Given the description of an element on the screen output the (x, y) to click on. 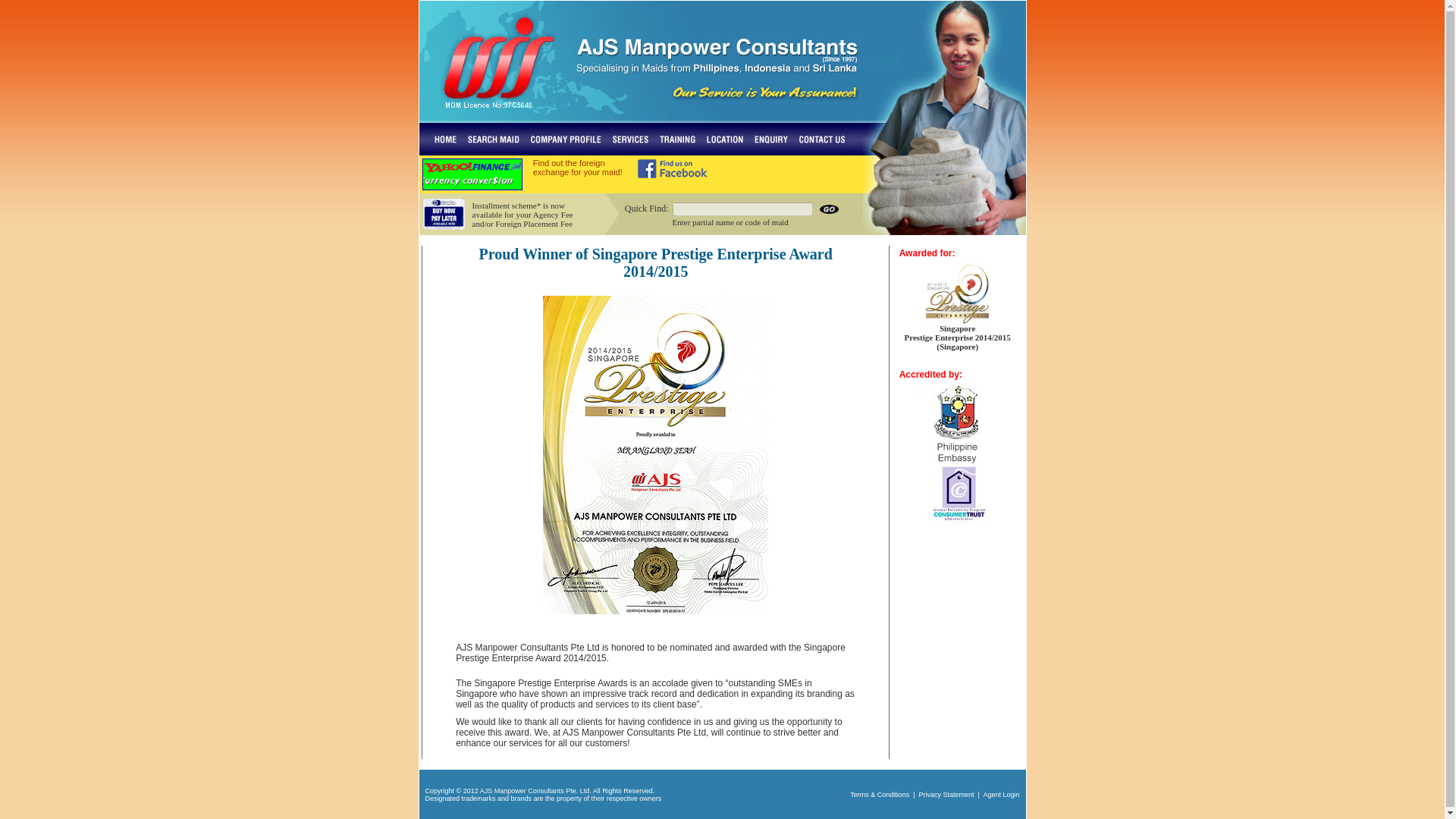
Privacy Statement (946, 793)
Agent Login (1000, 793)
Find out the foreign exchange for your maid! (577, 167)
